Given the description of an element on the screen output the (x, y) to click on. 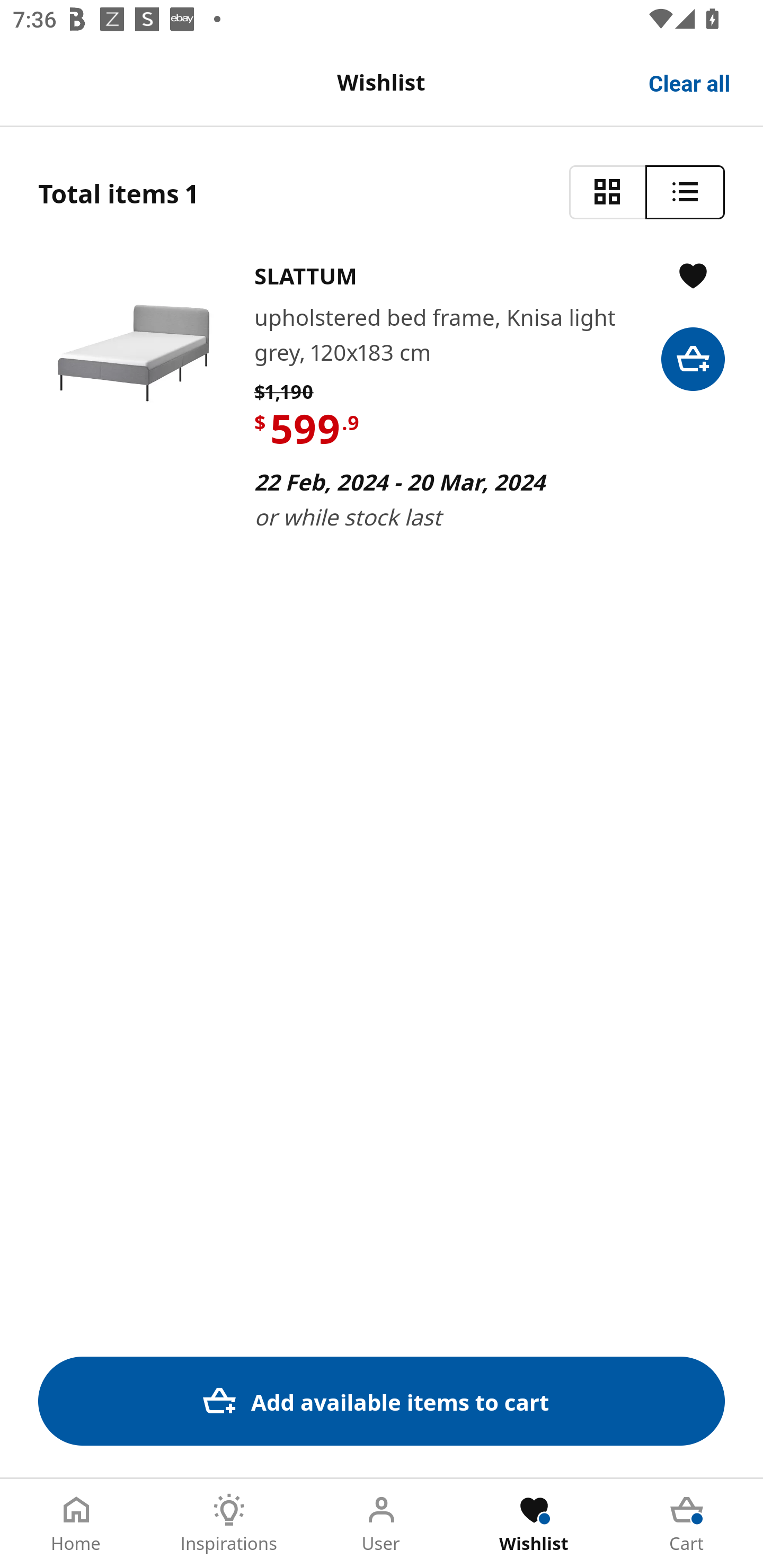
Clear all (689, 81)
Add available items to cart (381, 1400)
Home
Tab 1 of 5 (76, 1522)
Inspirations
Tab 2 of 5 (228, 1522)
User
Tab 3 of 5 (381, 1522)
Wishlist
Tab 4 of 5 (533, 1522)
Cart
Tab 5 of 5 (686, 1522)
